Given the description of an element on the screen output the (x, y) to click on. 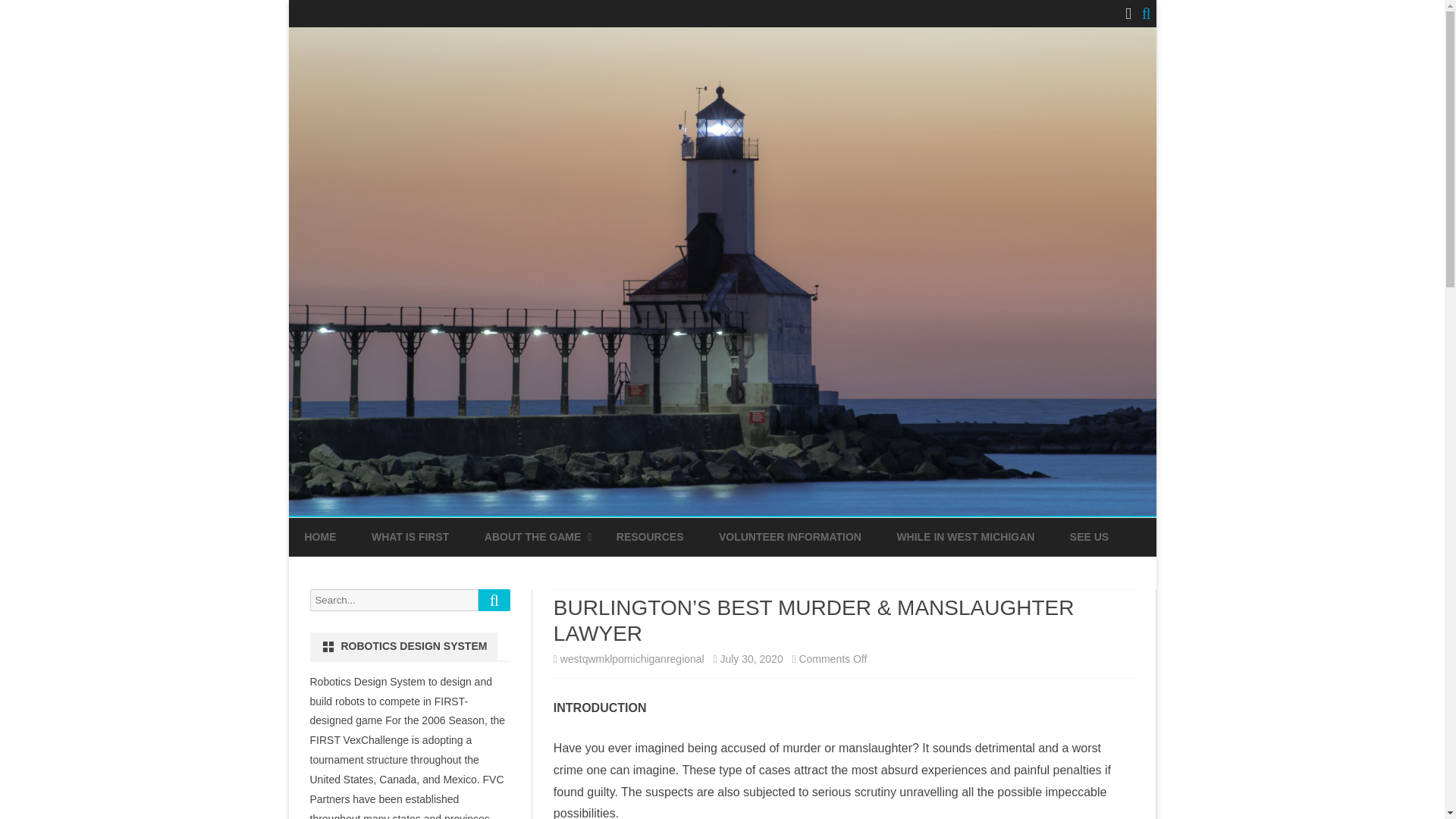
WHAT IS FIRST (409, 536)
Search (495, 599)
RESOURCES (649, 536)
SEE US (1089, 536)
VOLUNTEER INFORMATION (790, 536)
KICK-OFF EVENT INFORMATION (560, 572)
westqwmklpomichiganregional (632, 658)
ABOUT THE GAME (532, 536)
